Given the description of an element on the screen output the (x, y) to click on. 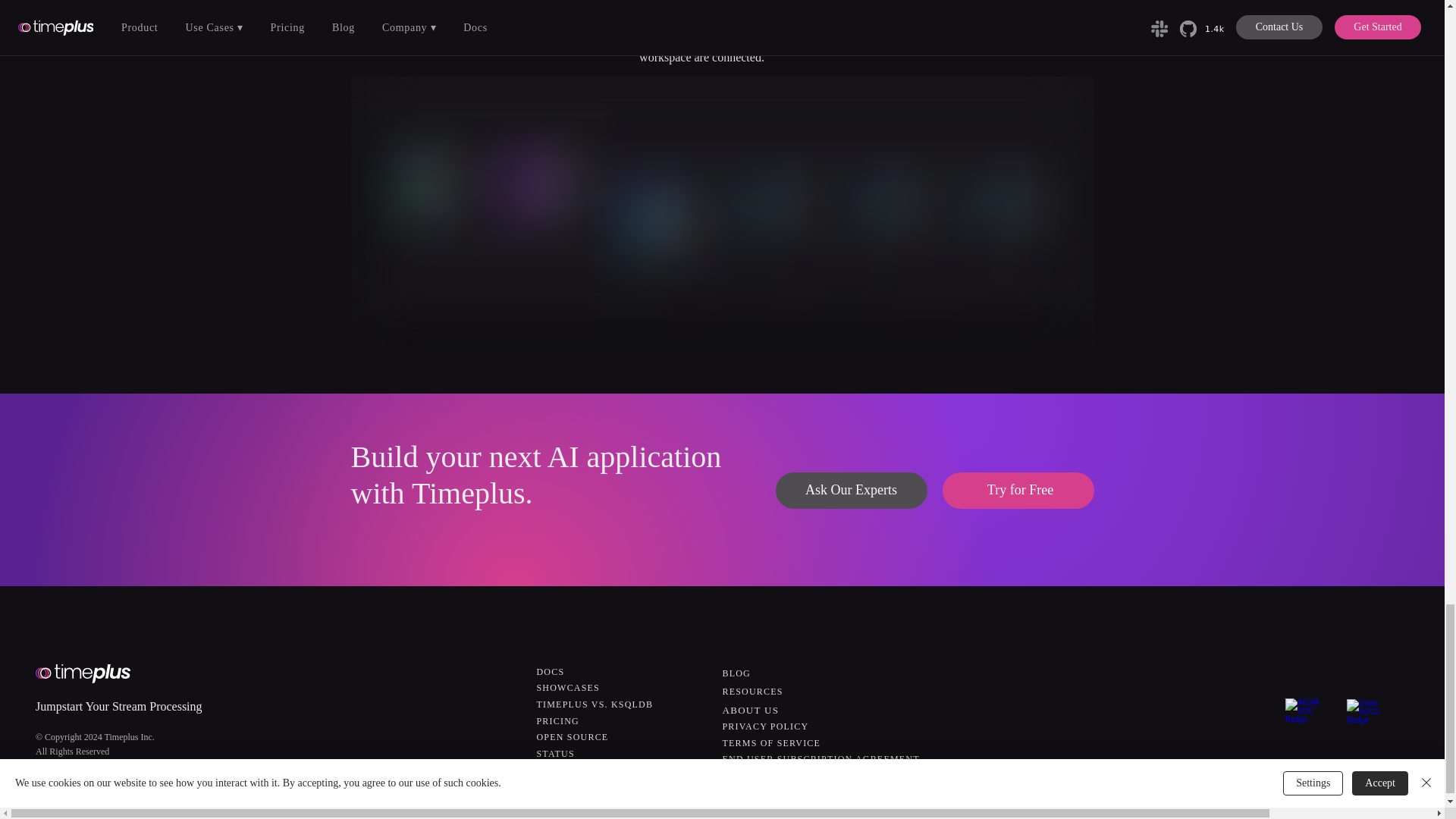
PRICING (558, 720)
DOCS (550, 671)
TIMEPLUS VS. KSQLDB (595, 704)
SHOWCASES (568, 687)
Try for Free (1017, 490)
Ask Our Experts (850, 490)
